Given the description of an element on the screen output the (x, y) to click on. 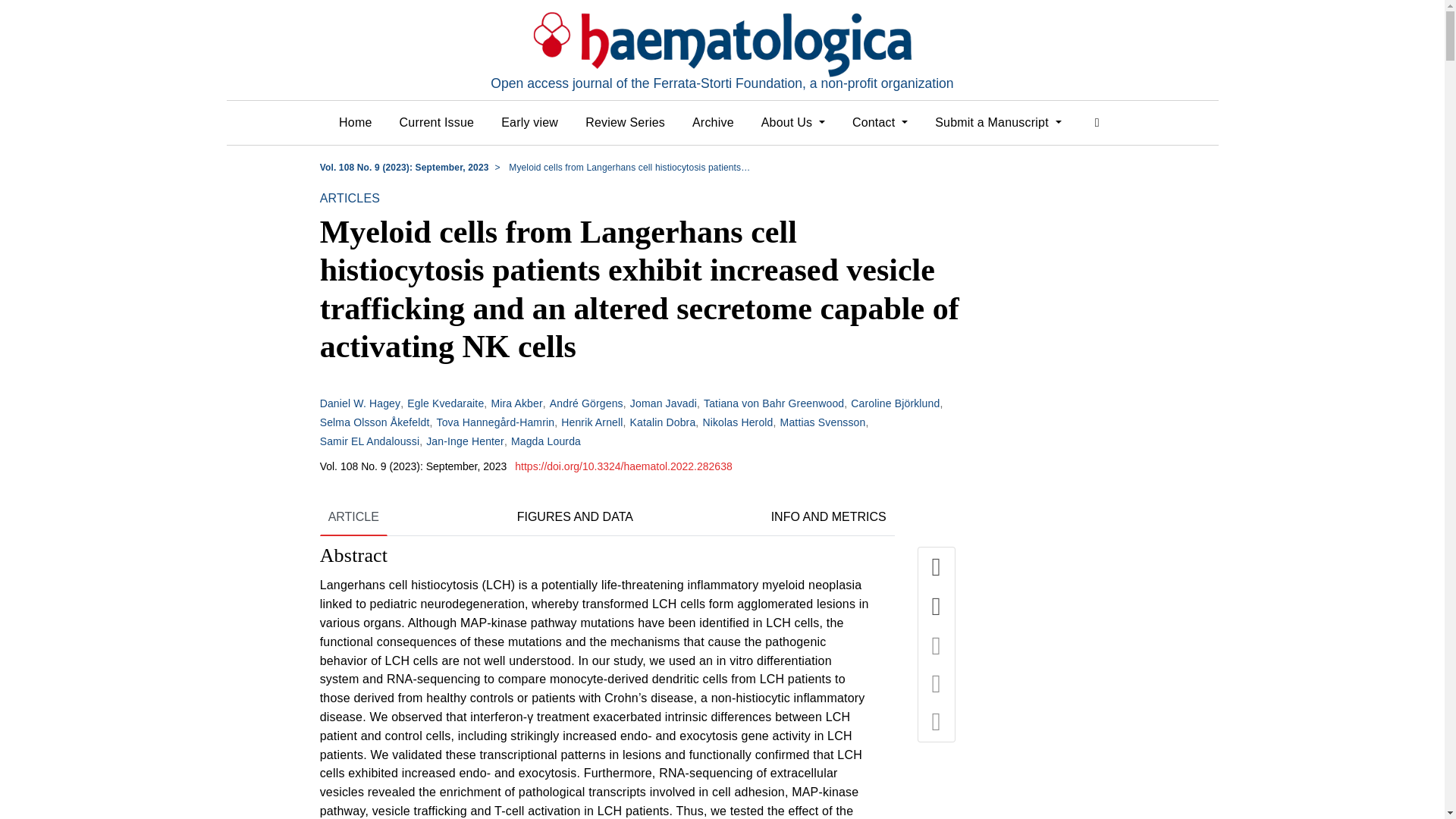
Samir EL Andaloussi (370, 440)
Henrik Arnell (591, 421)
Archive (712, 122)
Contact (879, 122)
Home (355, 122)
Request permissions (936, 721)
Download PDF (936, 606)
How to cite (936, 646)
Mira Akber (515, 402)
Nikolas Herold (737, 421)
About Us (793, 122)
Katalin Dobra (662, 421)
Submit a Manuscript (997, 122)
Egle Kvedaraite (445, 402)
